Given the description of an element on the screen output the (x, y) to click on. 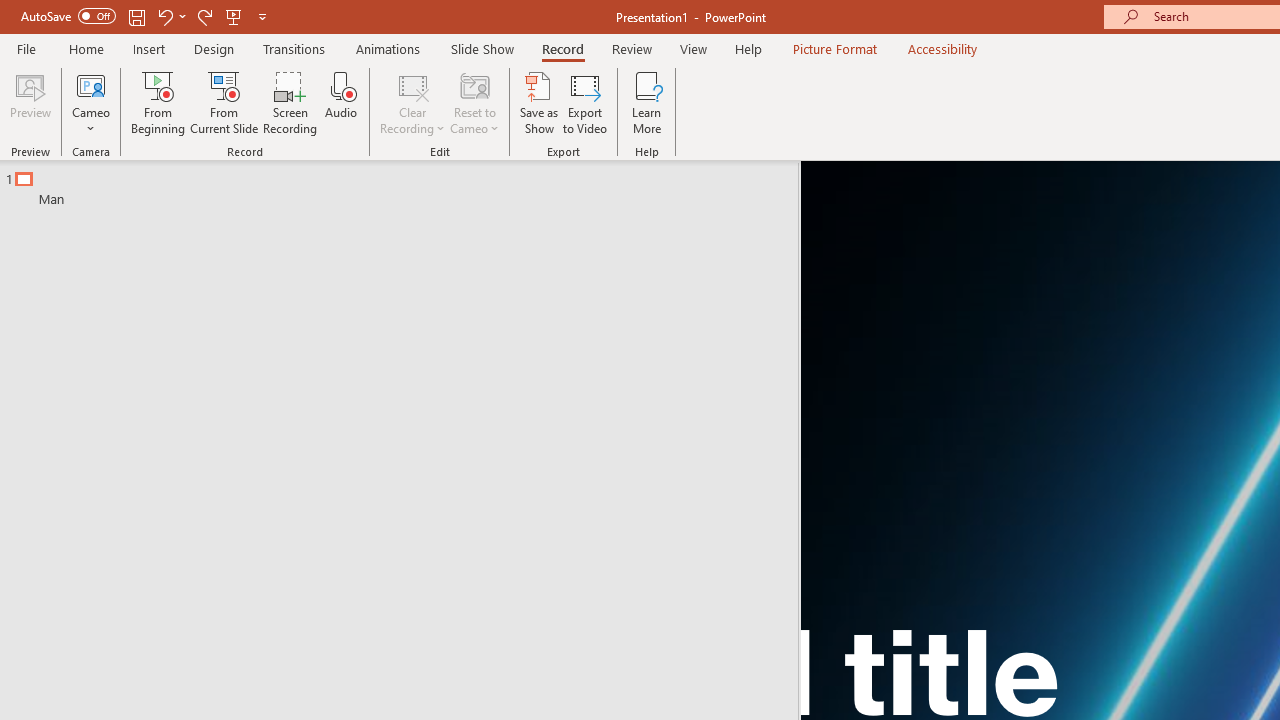
Picture Format (834, 48)
